Given the description of an element on the screen output the (x, y) to click on. 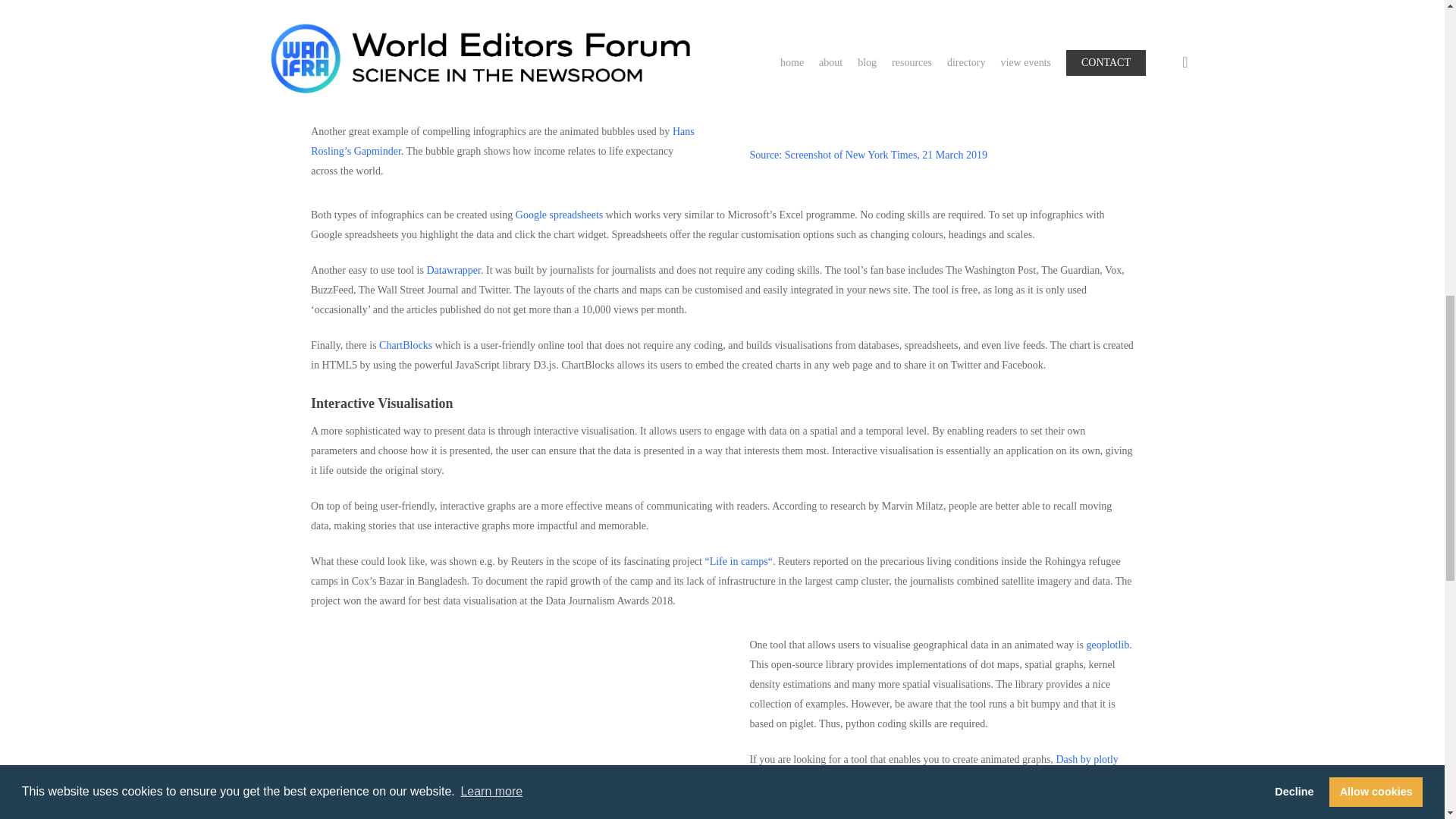
geoplotlib. (1108, 644)
ChartBlocks (405, 345)
Google spreadsheets (558, 214)
punishing reach of racism for black males. (401, 91)
Source: Screenshot of New York Times, 21 March 2019 (868, 154)
Dash by plotly (1086, 758)
Datawrapper (453, 270)
